Given the description of an element on the screen output the (x, y) to click on. 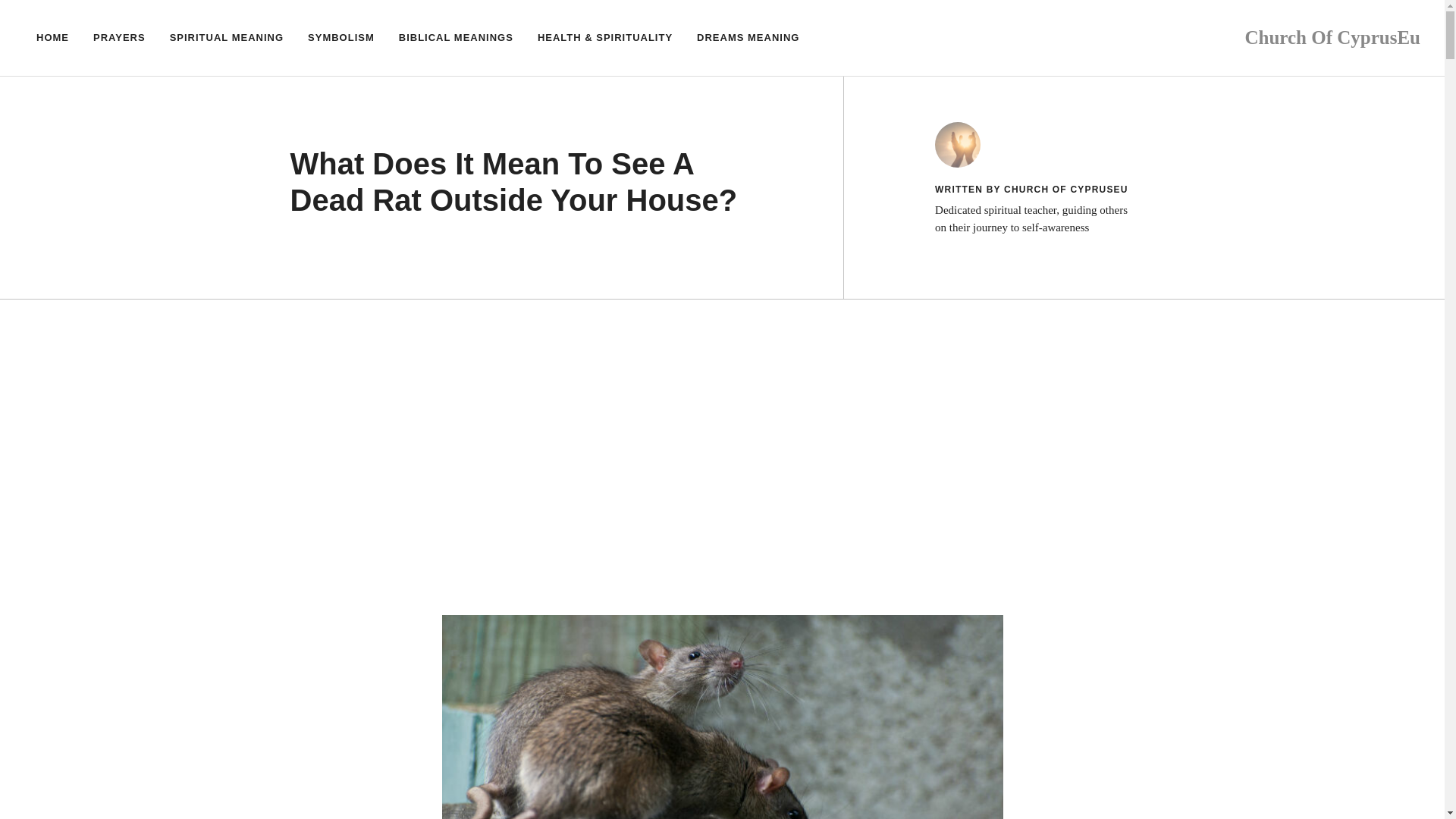
Church Of CyprusEu (1332, 37)
Advertisement (722, 410)
SYMBOLISM (341, 37)
PRAYERS (119, 37)
HOME (52, 37)
BIBLICAL MEANINGS (456, 37)
SPIRITUAL MEANING (226, 37)
DREAMS MEANING (747, 37)
